Given the description of an element on the screen output the (x, y) to click on. 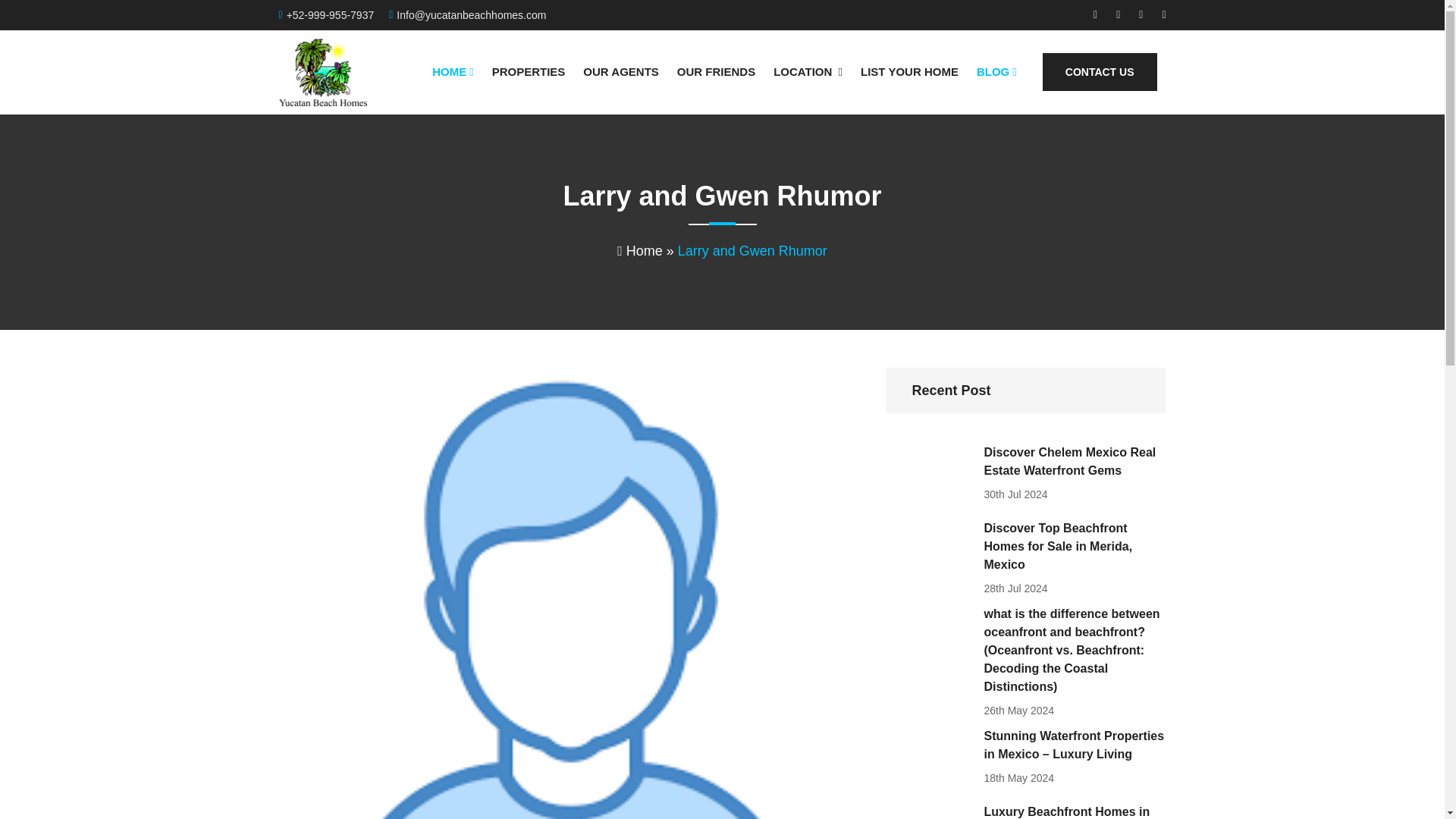
LIST YOUR HOME (909, 71)
Discover Chelem Mexico Real Estate Waterfront Gems (1075, 461)
OUR AGENTS (620, 71)
CONTACT US (1099, 71)
Go to Real Estate Services in Mexico. (639, 250)
Discover Top Beachfront Homes for Sale in Merida, Mexico (1075, 546)
OUR FRIENDS (716, 71)
Home (639, 250)
